Given the description of an element on the screen output the (x, y) to click on. 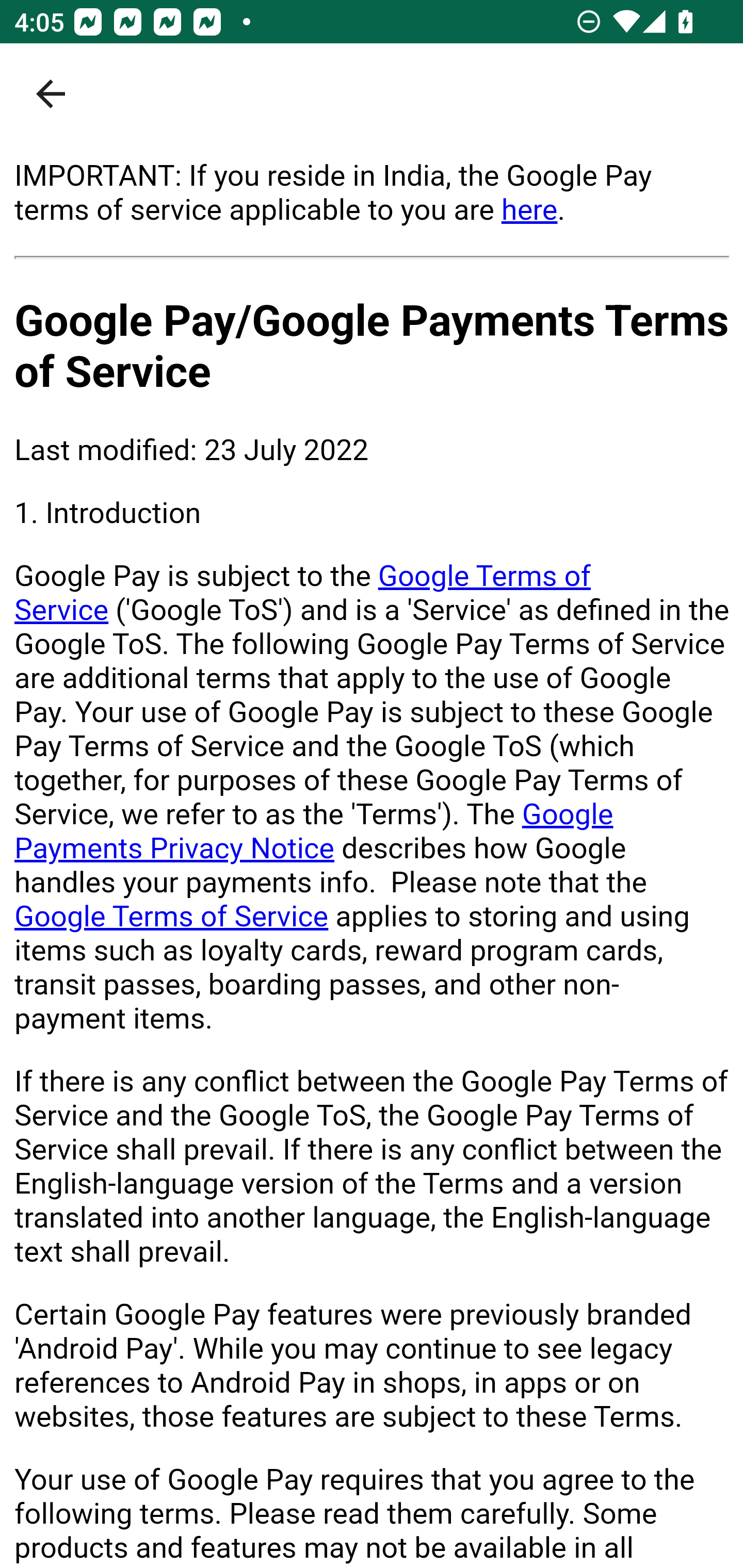
Navigate up (50, 93)
here (528, 209)
Google Terms of Service (303, 593)
Google Payments Privacy Notice (313, 831)
Google Terms of Service (171, 916)
